Given the description of an element on the screen output the (x, y) to click on. 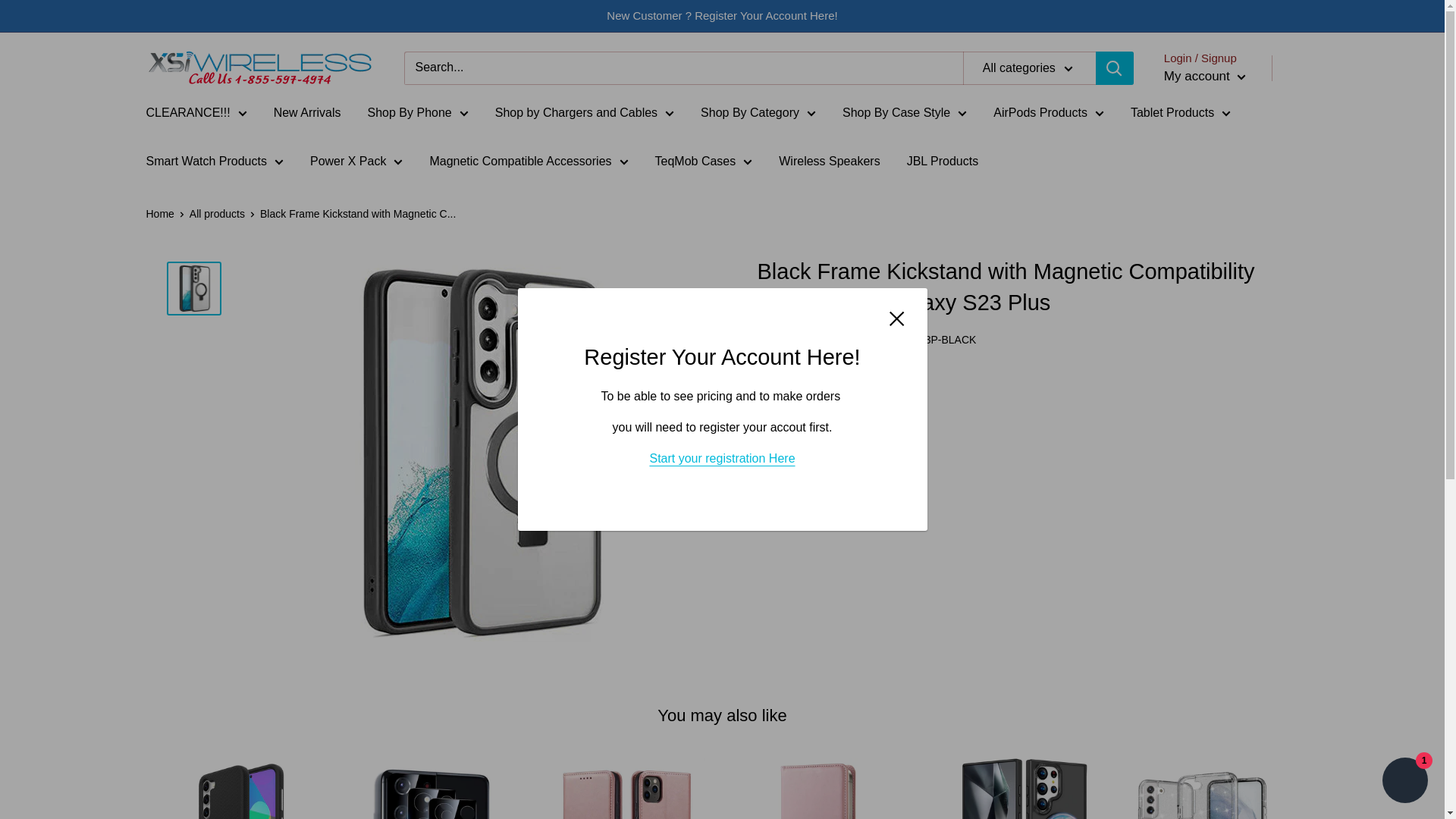
New Customer ? Register Your Account Here! (722, 15)
Shopify online store chat (1404, 781)
Start your registration Here (721, 458)
